Given the description of an element on the screen output the (x, y) to click on. 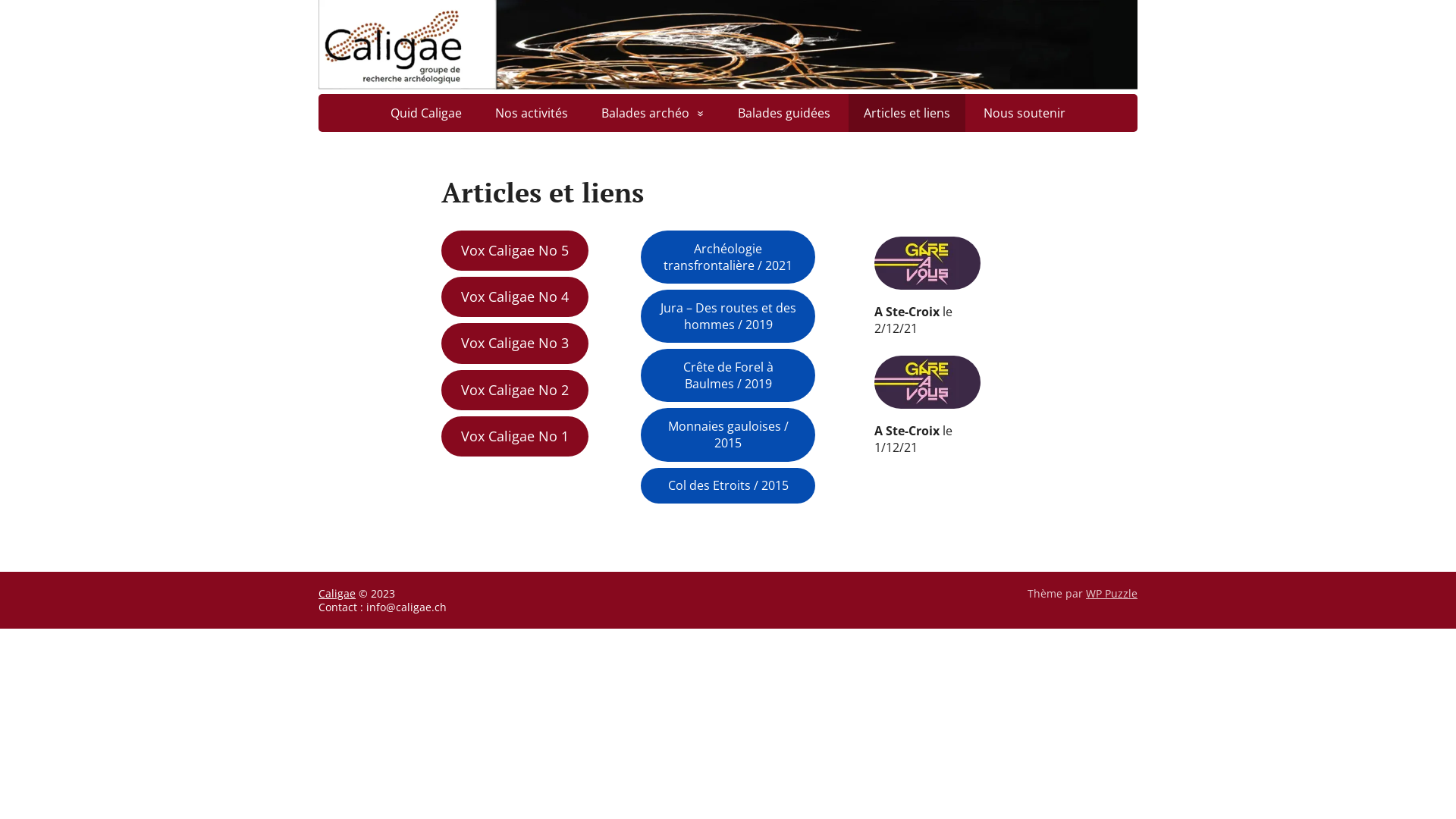
Vox Caligae No 3 Element type: text (514, 343)
Vox Caligae No 1 Element type: text (514, 436)
WP Puzzle Element type: text (1111, 593)
Vox Caligae No 2 Element type: text (514, 390)
Col des Etroits / 2015 Element type: text (727, 485)
Monnaies gauloises / 2015 Element type: text (727, 434)
Vox Caligae No 4 Element type: text (514, 296)
Nous soutenir Element type: text (1024, 112)
Quid Caligae Element type: text (425, 112)
Vox Caligae No 5 Element type: text (514, 250)
Caligae Element type: text (336, 593)
